Given the description of an element on the screen output the (x, y) to click on. 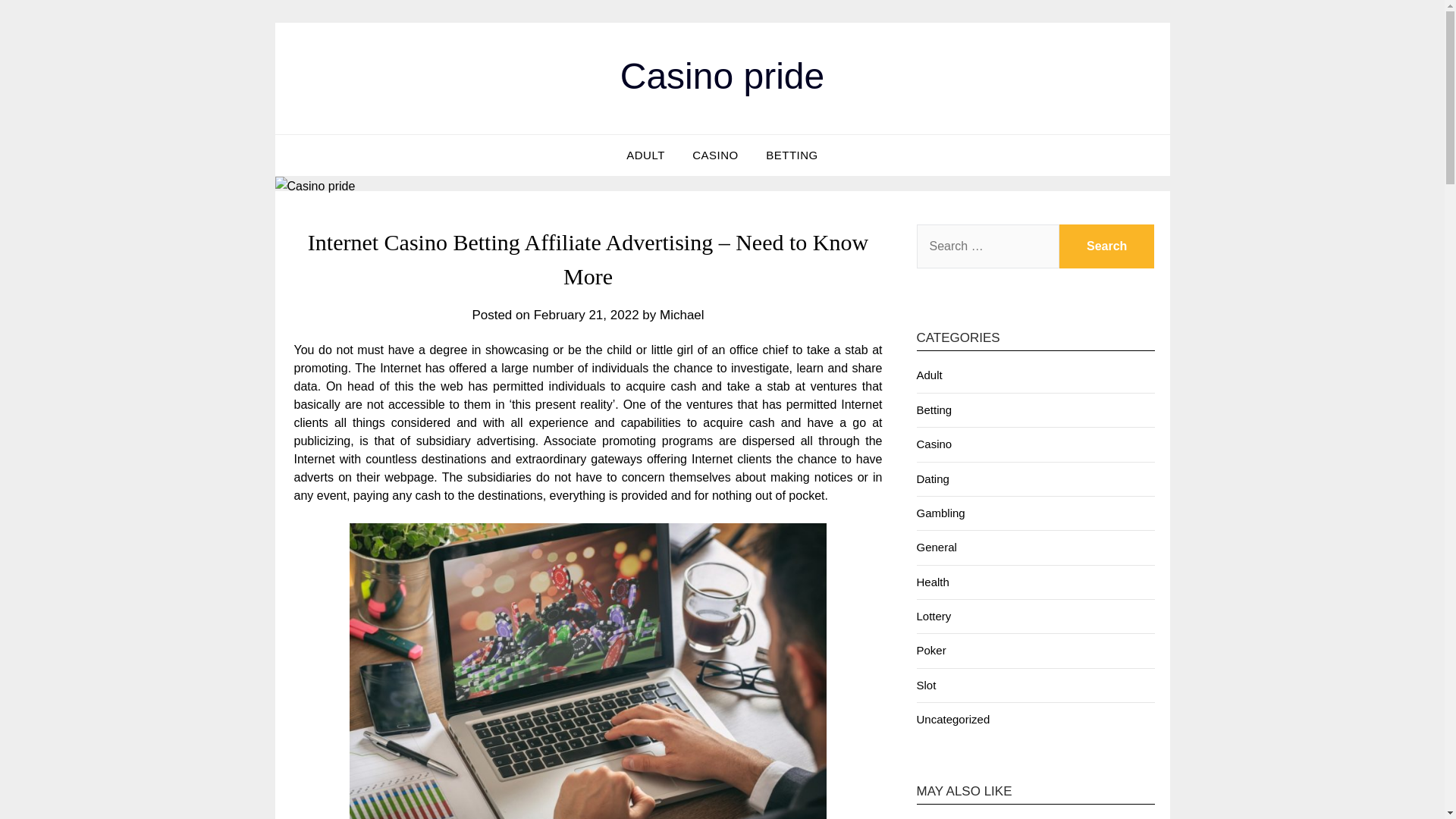
BETTING (791, 155)
ADULT (645, 155)
February 21, 2022 (586, 314)
CASINO (715, 155)
Michael (681, 314)
Search (1106, 246)
Adult (928, 374)
Slot (925, 684)
Casino pride (722, 76)
Gambling (939, 512)
